Given the description of an element on the screen output the (x, y) to click on. 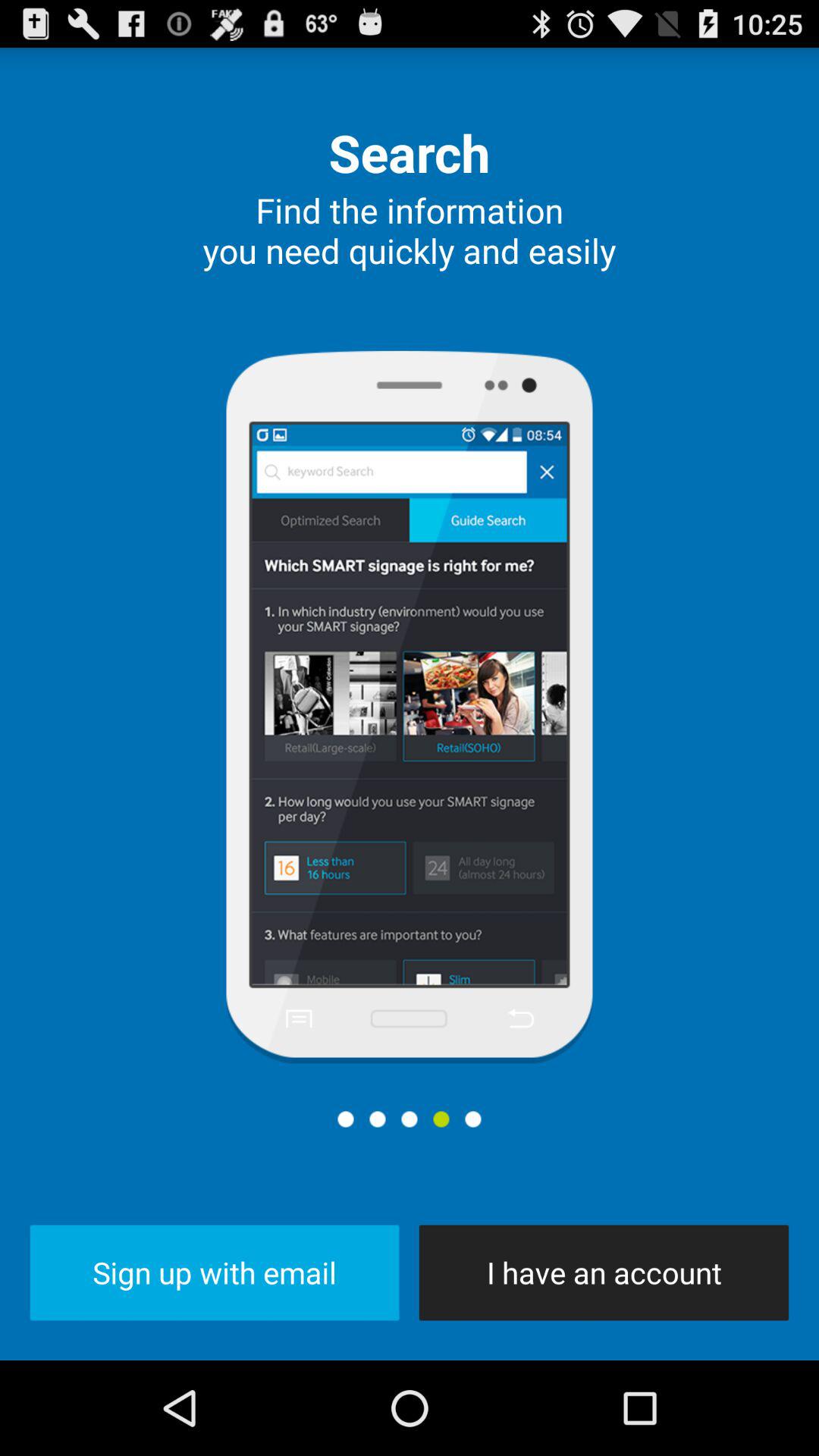
turn off the item at the bottom left corner (214, 1272)
